Given the description of an element on the screen output the (x, y) to click on. 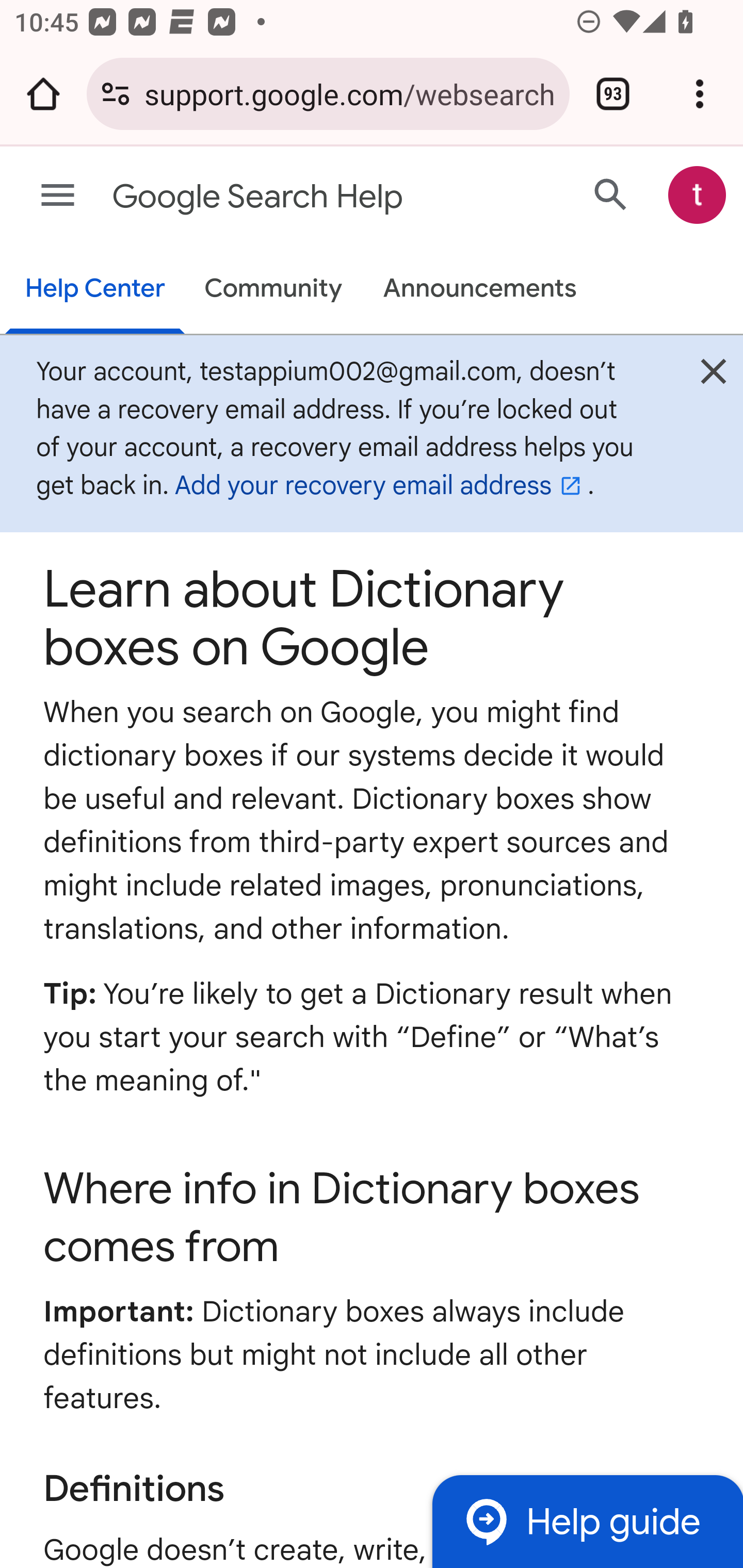
Open the home page (43, 93)
Connection is secure (115, 93)
Switch or close tabs (612, 93)
Customize and control Google Chrome (699, 93)
support.google.com/websearch/answer/10106608?hl=en (349, 92)
Main menu (58, 195)
Google Search Help (292, 197)
Search Help Center (611, 194)
Help Center (94, 289)
Community (273, 289)
Announcements (479, 289)
Close (713, 376)
Add your recovery email address (380, 485)
Help guide (587, 1520)
